Given the description of an element on the screen output the (x, y) to click on. 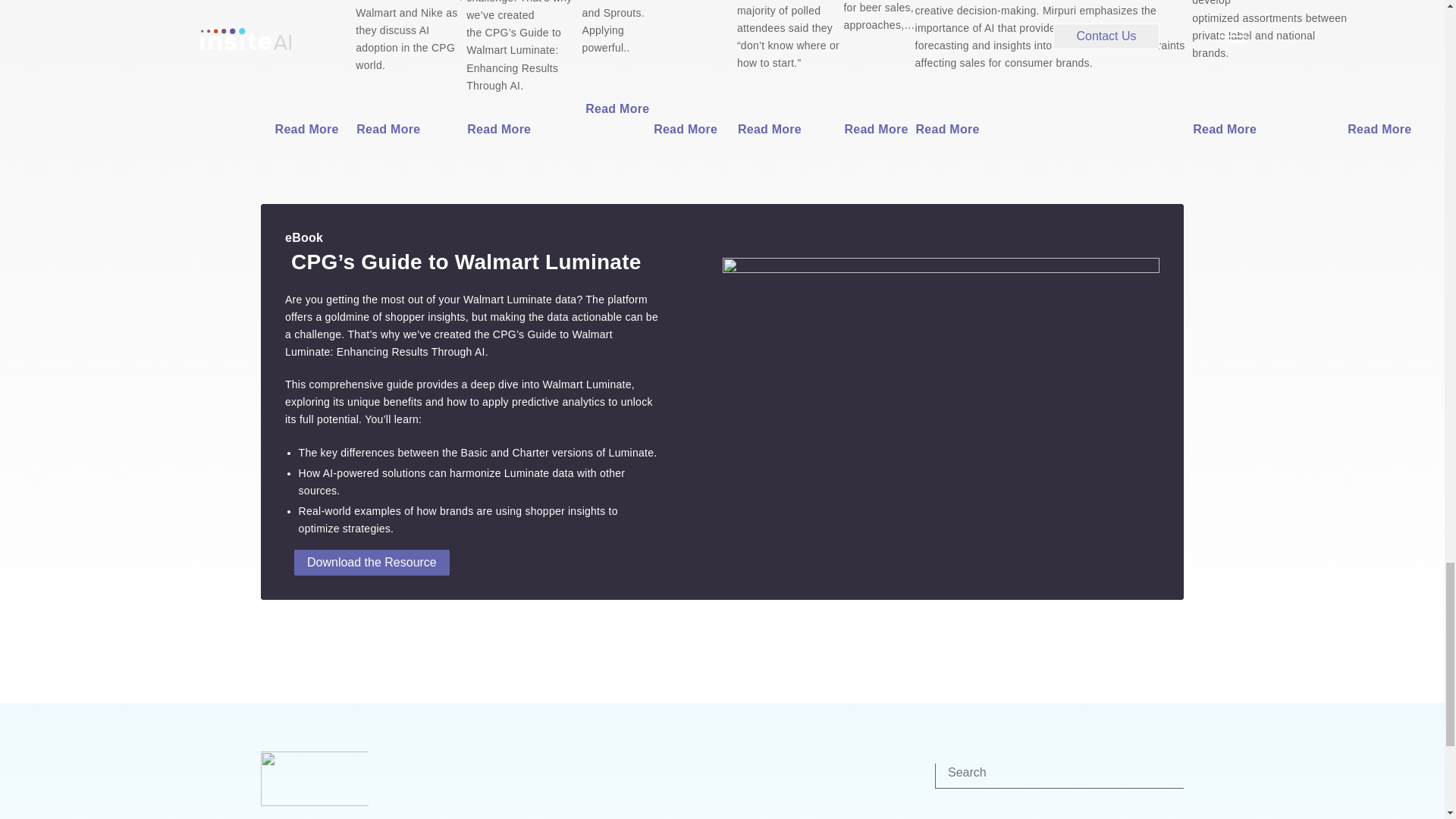
Read More (310, 129)
